Given the description of an element on the screen output the (x, y) to click on. 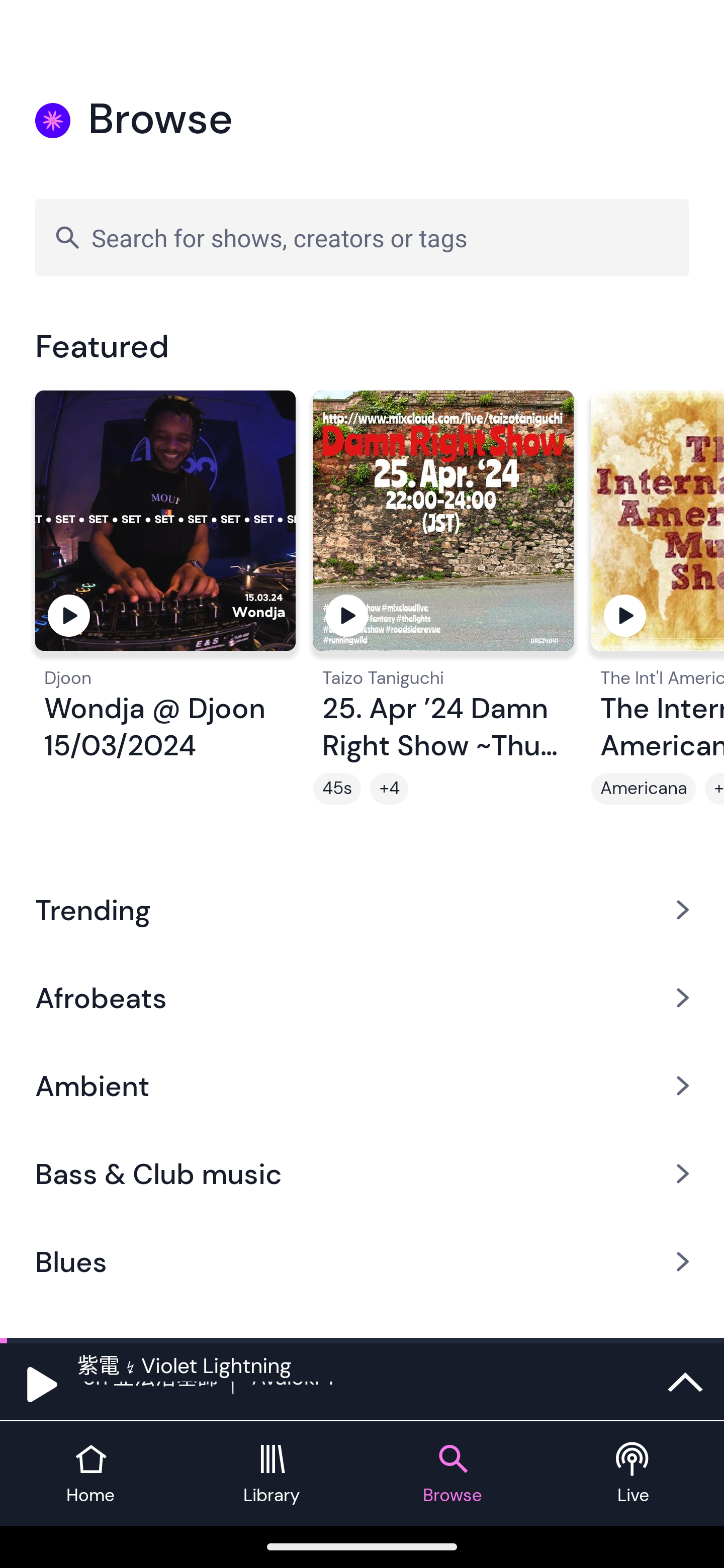
Search for shows, creators or tags (361, 237)
45s (337, 788)
Americana (643, 788)
Trending (361, 909)
Afrobeats (361, 997)
Ambient (361, 1085)
Bass & Club music (361, 1174)
Blues (361, 1262)
Home tab Home (90, 1473)
Library tab Library (271, 1473)
Browse tab Browse (452, 1473)
Live tab Live (633, 1473)
